Given the description of an element on the screen output the (x, y) to click on. 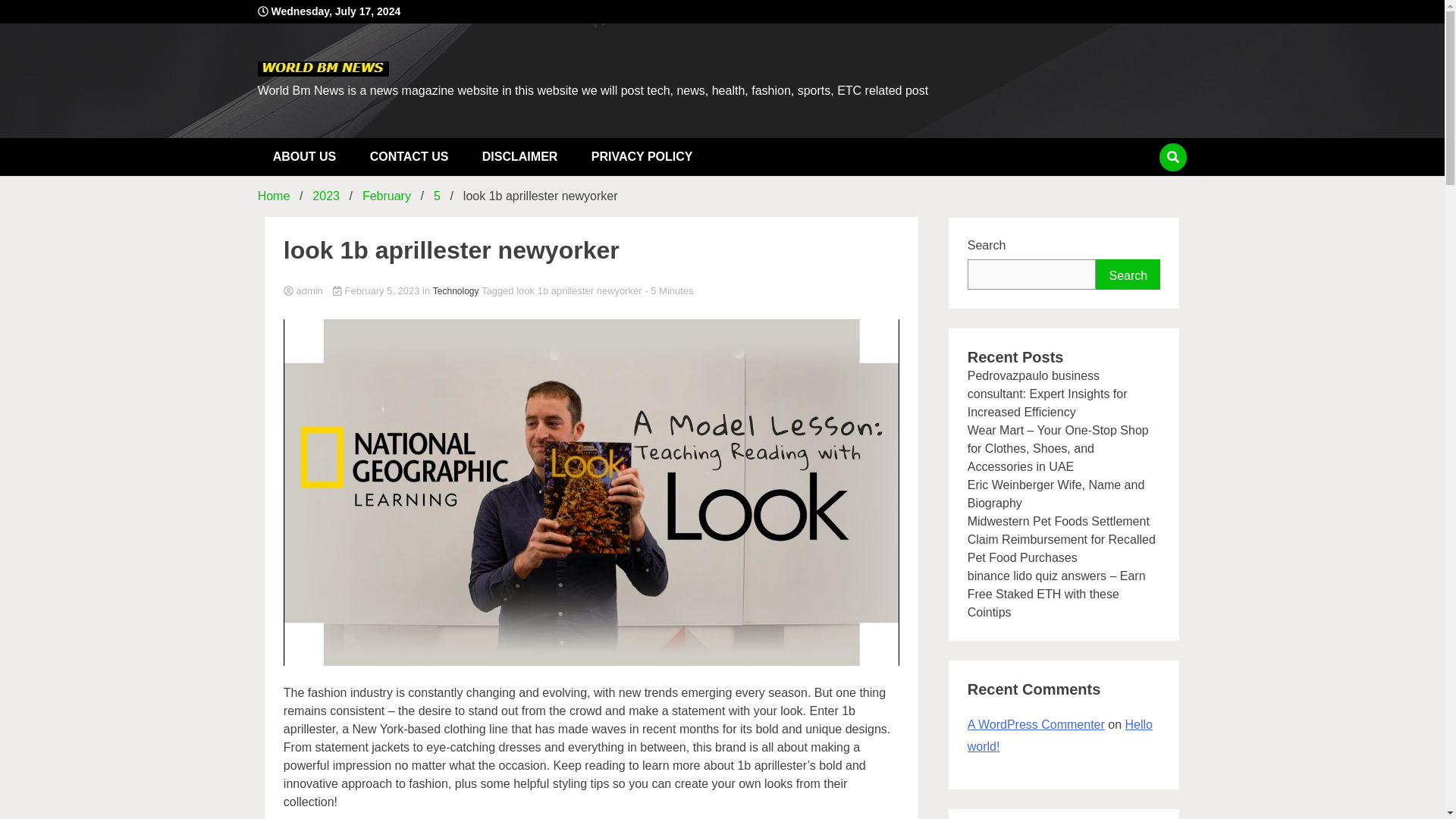
Home (273, 195)
look 1b aprillester newyorker (579, 290)
ABOUT US (304, 157)
Technology (455, 291)
Search (1128, 274)
PRIVACY POLICY (641, 157)
Estimated Reading Time of Article (669, 290)
admin (591, 291)
February (386, 195)
February 5, 2023 (377, 290)
2023 (326, 195)
DISCLAIMER (520, 157)
CONTACT US (409, 157)
